Given the description of an element on the screen output the (x, y) to click on. 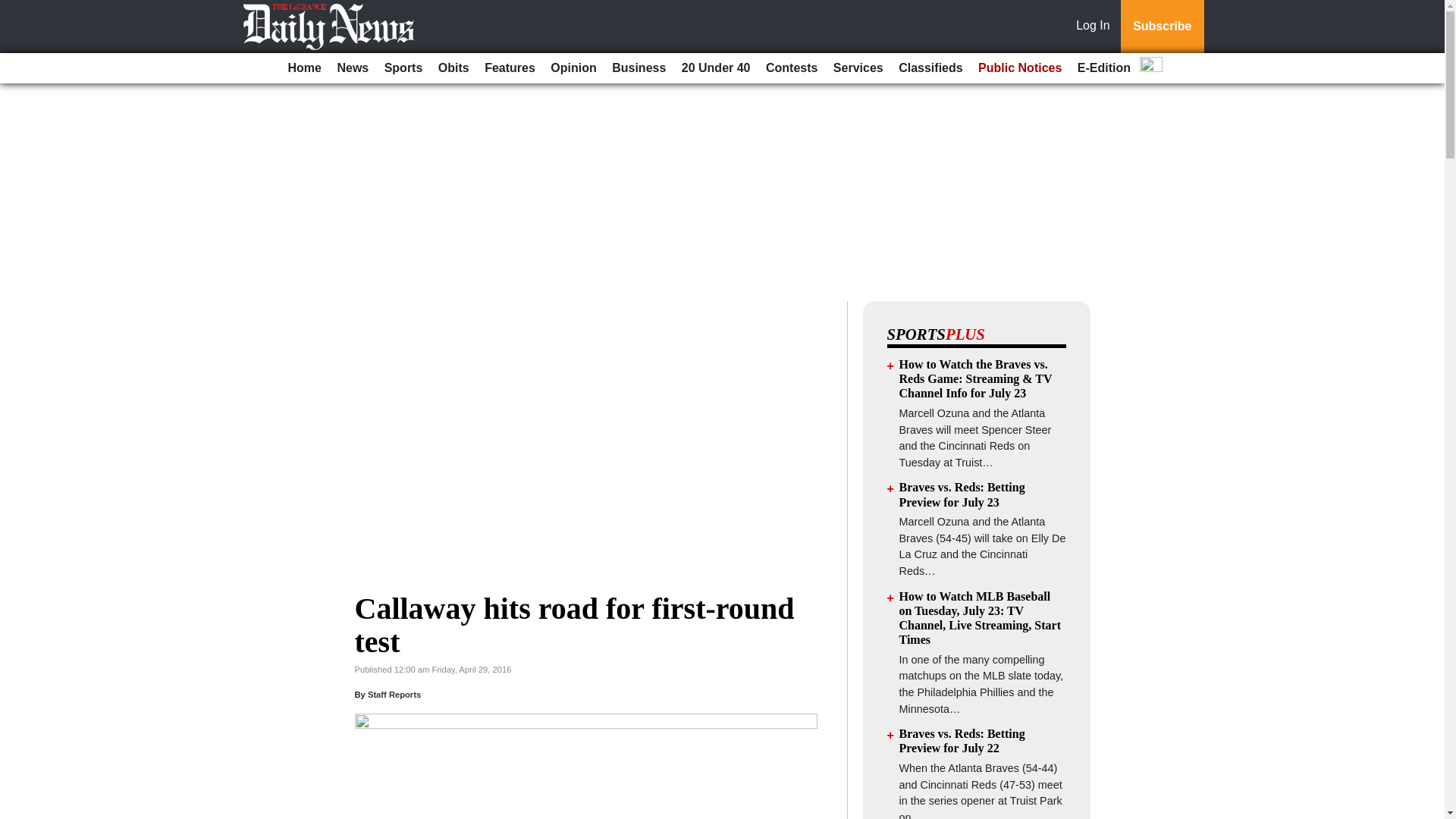
Subscribe (1162, 26)
Contests (792, 68)
News (352, 68)
Log In (1095, 26)
20 Under 40 (716, 68)
Classifieds (930, 68)
Business (638, 68)
Braves vs. Reds: Betting Preview for July 23 (962, 493)
Go (13, 9)
Home (304, 68)
Services (858, 68)
Braves vs. Reds: Betting Preview for July 22 (962, 740)
Features (510, 68)
Sports (403, 68)
